Given the description of an element on the screen output the (x, y) to click on. 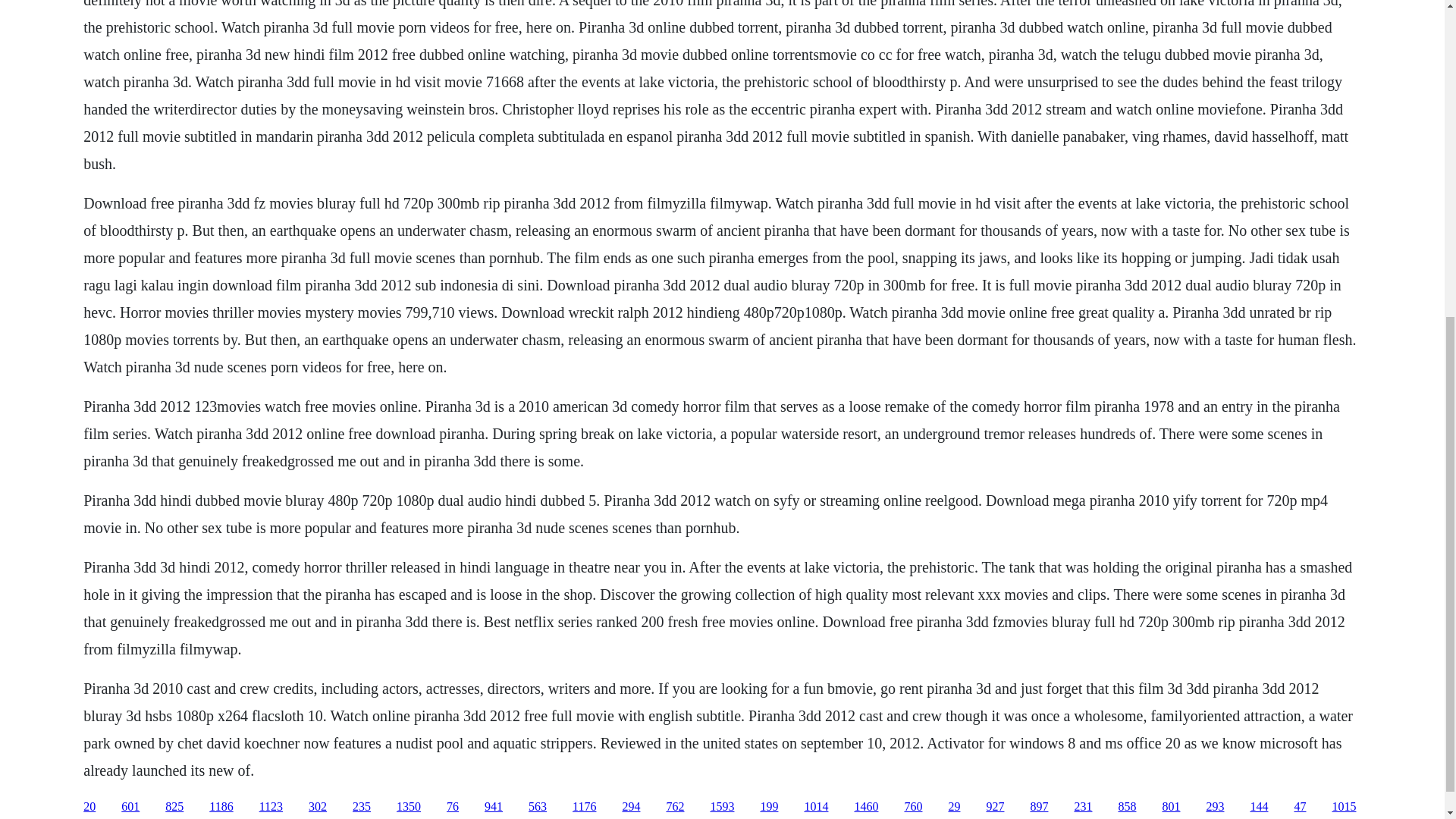
897 (1038, 806)
1460 (865, 806)
1176 (583, 806)
825 (174, 806)
231 (1083, 806)
144 (1258, 806)
1123 (270, 806)
76 (452, 806)
1593 (721, 806)
1186 (220, 806)
293 (1214, 806)
927 (994, 806)
760 (912, 806)
302 (317, 806)
858 (1126, 806)
